Given the description of an element on the screen output the (x, y) to click on. 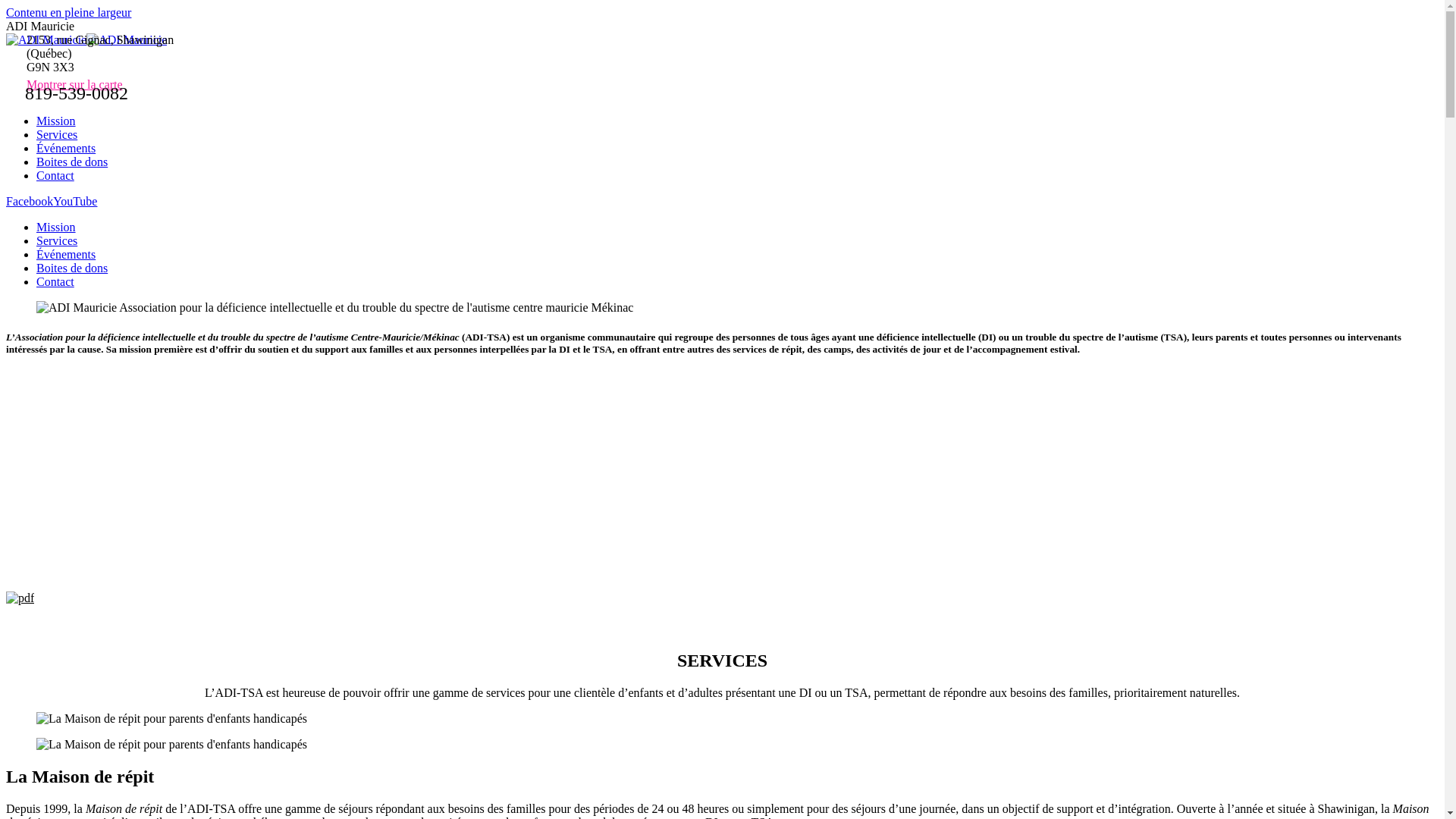
Boites de dons Element type: text (71, 161)
Facebook Element type: text (29, 200)
Mission Element type: text (55, 120)
Contenu en pleine largeur Element type: text (68, 12)
Services Element type: text (56, 134)
Contact Element type: text (55, 175)
Contact Element type: text (55, 281)
Services Element type: text (56, 240)
Boites de dons Element type: text (71, 267)
Montrer sur la carte Element type: text (74, 84)
YouTube Element type: text (75, 200)
Mission Element type: text (55, 226)
